Given the description of an element on the screen output the (x, y) to click on. 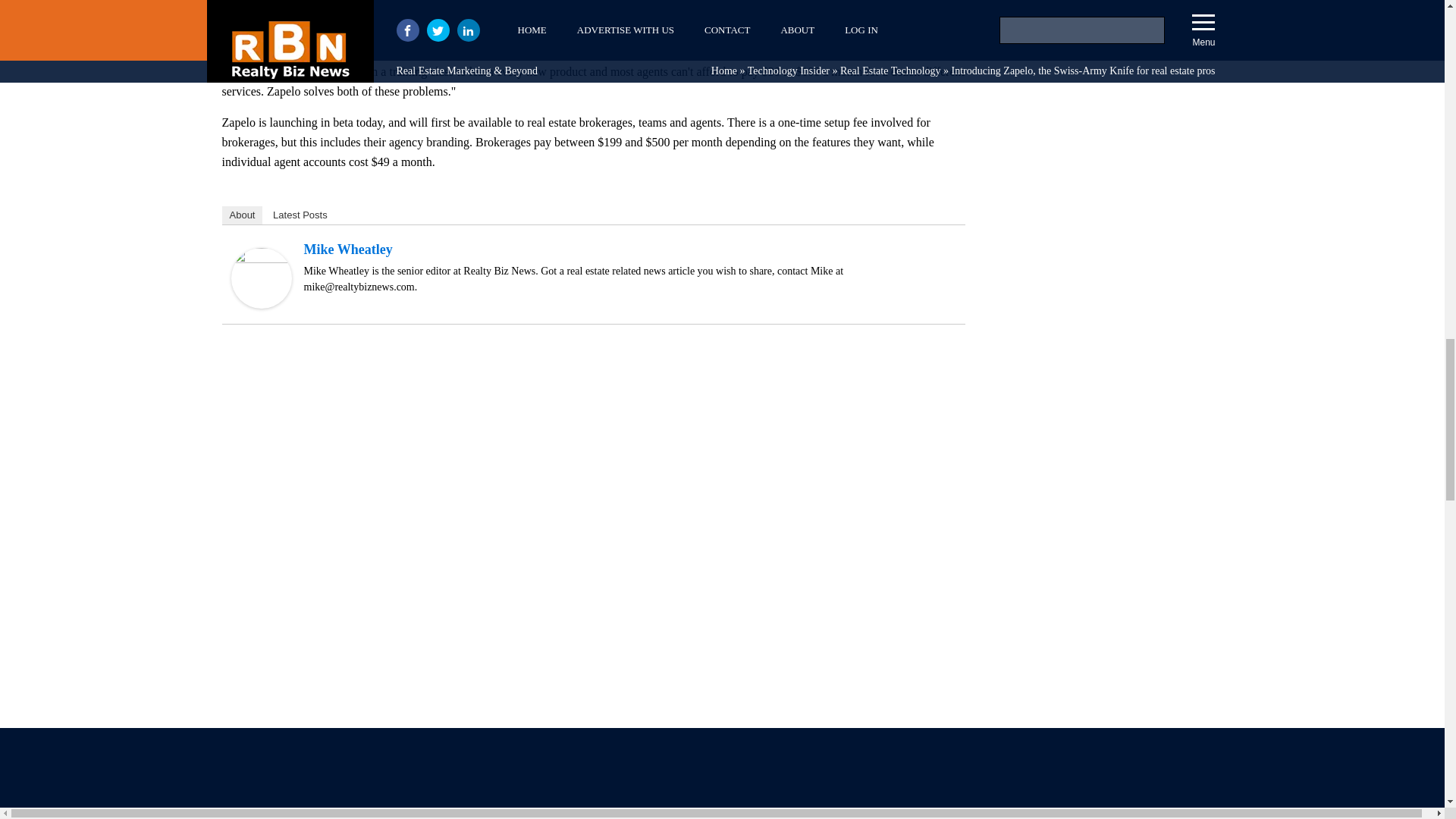
Advertisement (721, 773)
Mike Wheatley (260, 304)
